Given the description of an element on the screen output the (x, y) to click on. 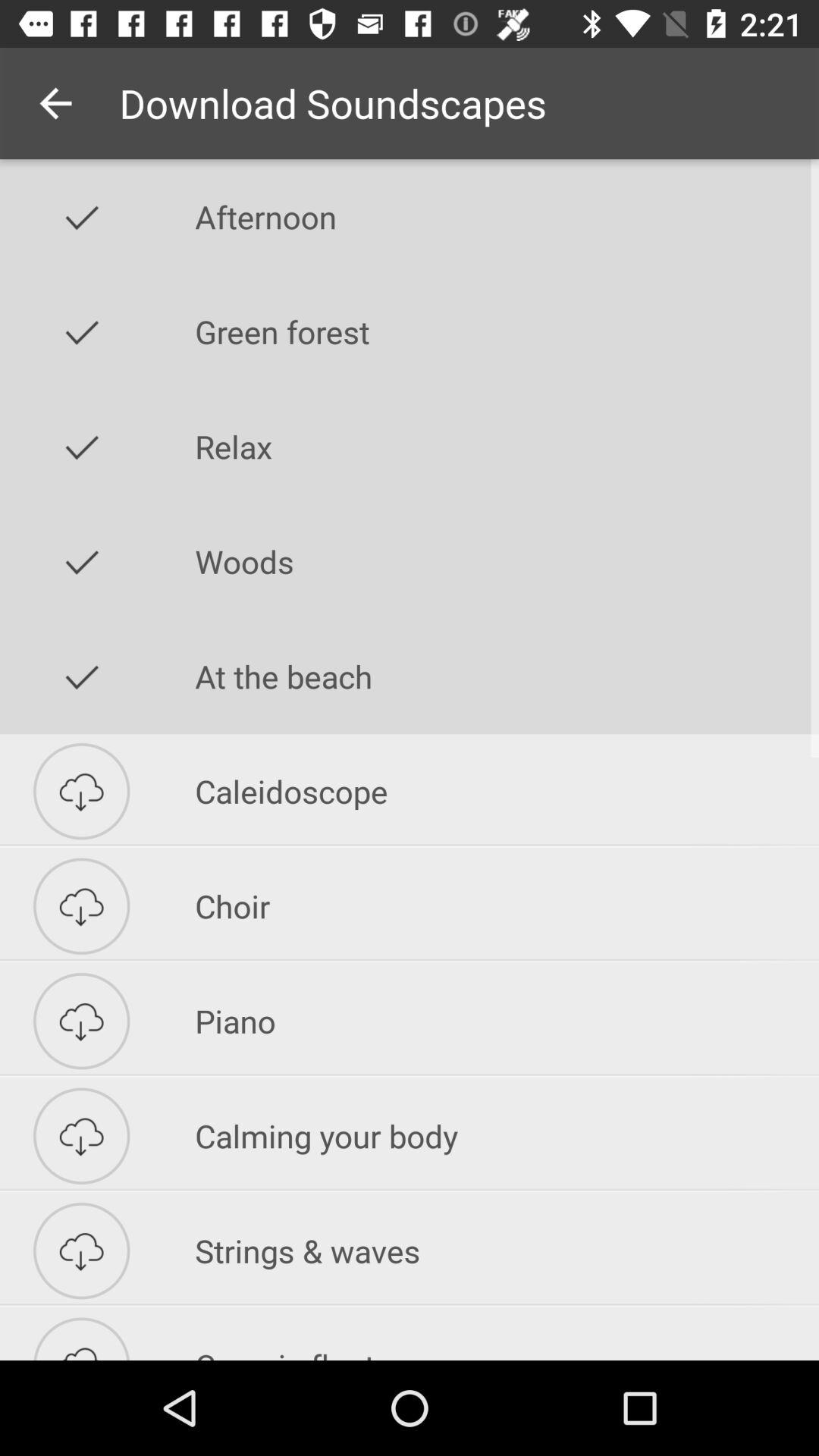
select the calming your body icon (507, 1135)
